Given the description of an element on the screen output the (x, y) to click on. 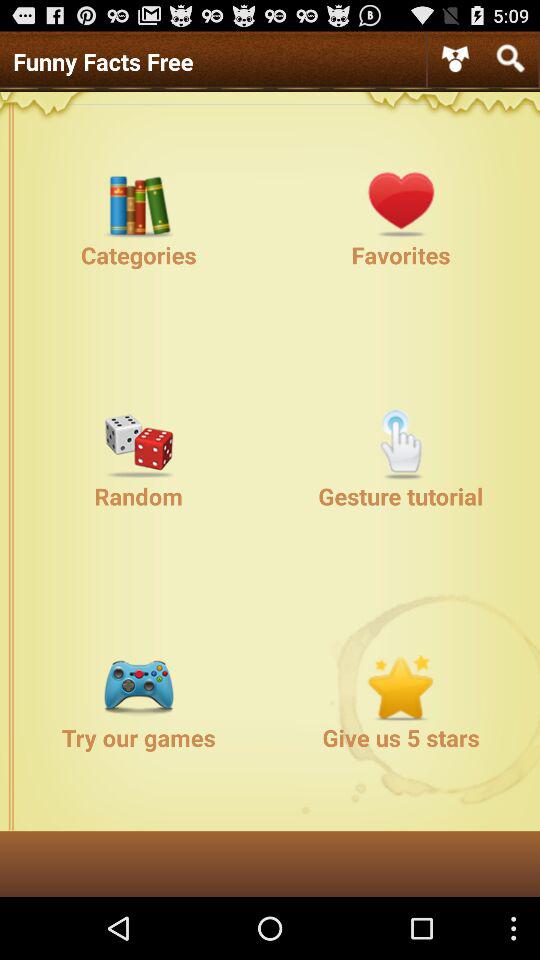
dot with arrow button (455, 58)
